Given the description of an element on the screen output the (x, y) to click on. 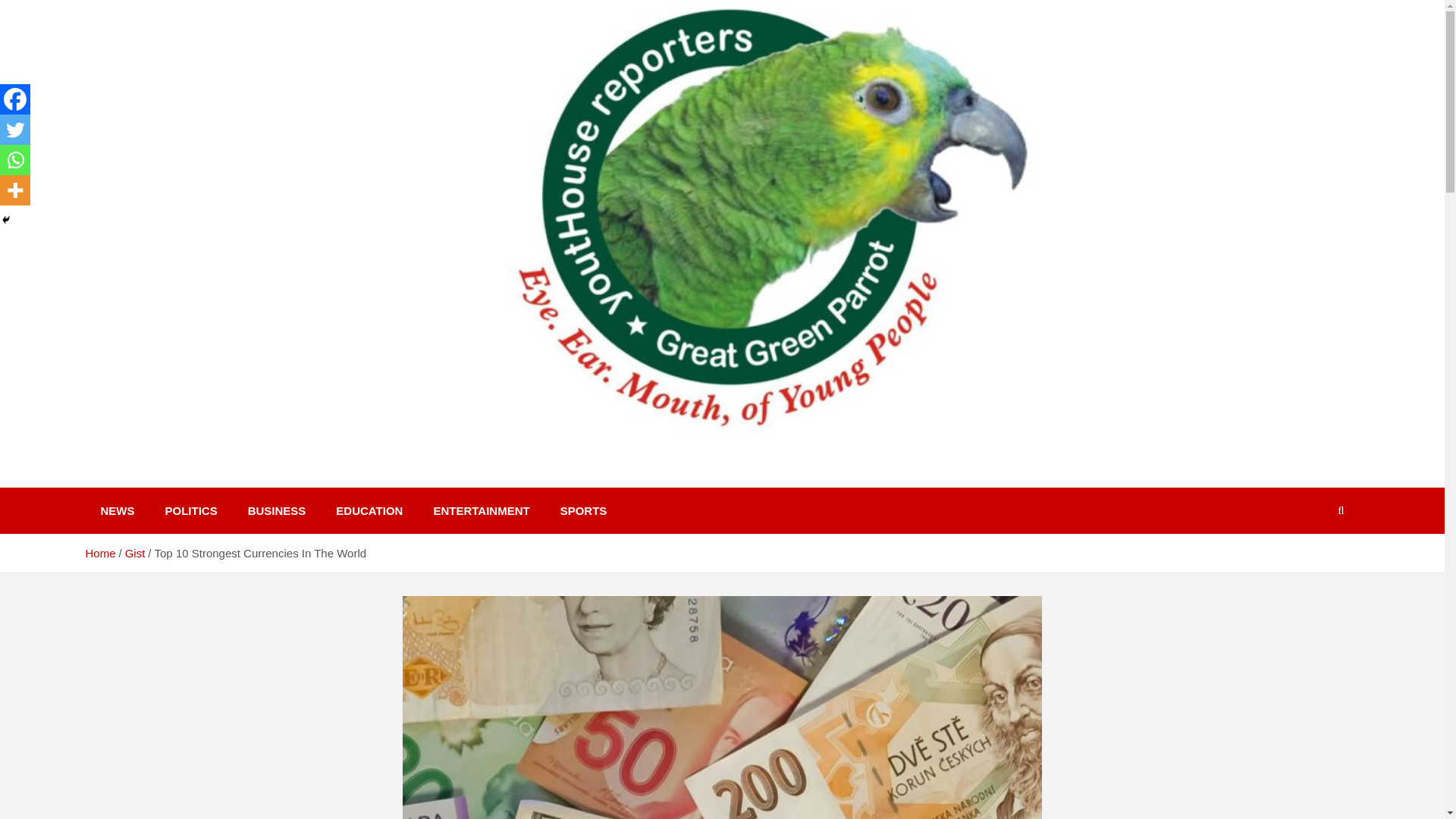
NEWS (116, 510)
Twitter (15, 129)
POLITICS (190, 510)
More (15, 190)
Hide (5, 219)
EDUCATION (368, 510)
Home (99, 553)
BUSINESS (276, 510)
Whatsapp (15, 159)
SPORTS (583, 510)
